Given the description of an element on the screen output the (x, y) to click on. 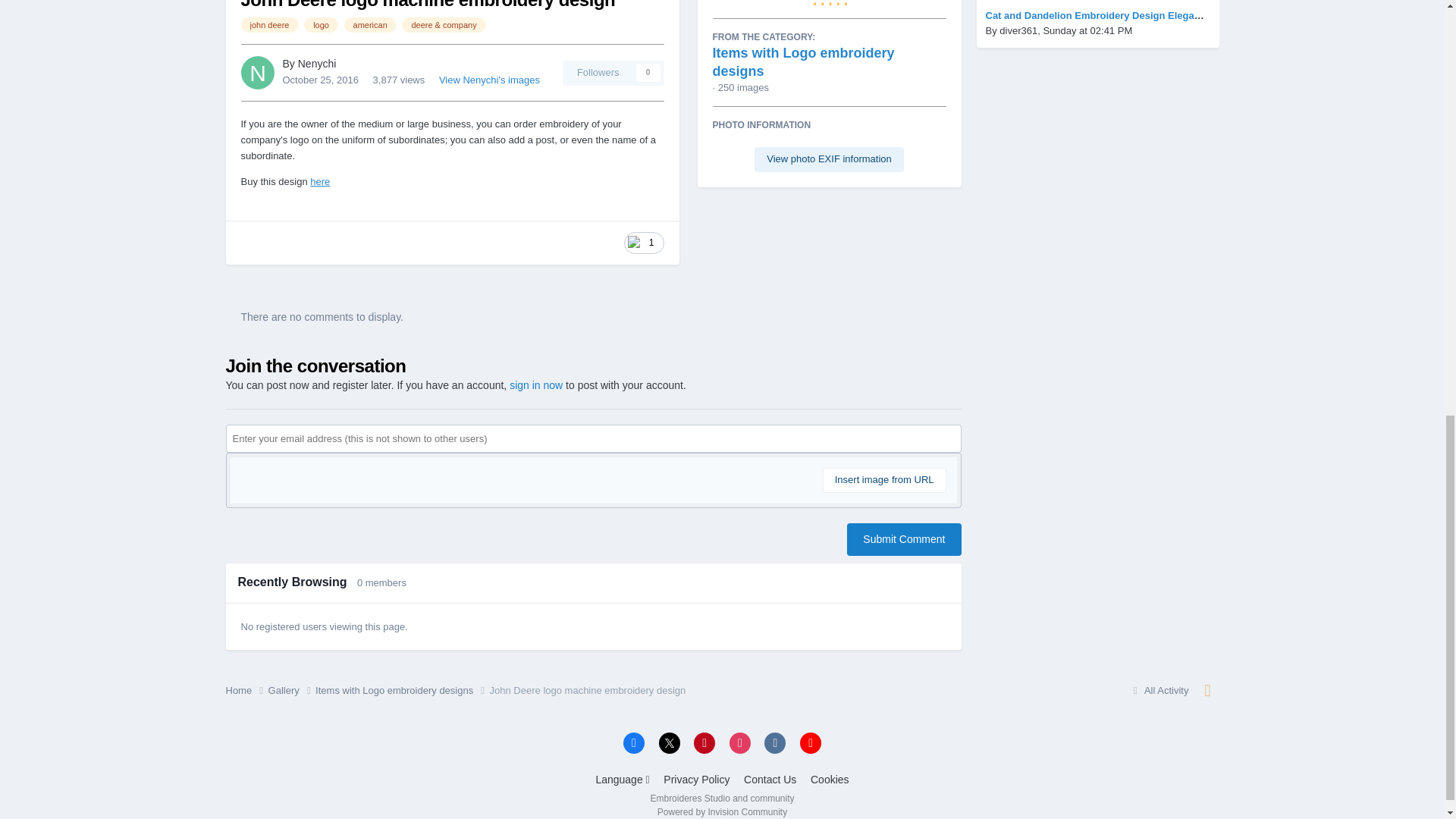
Find other content tagged with 'john deere' (269, 24)
Find other content tagged with 'american' (369, 24)
Find other content tagged with 'logo' (320, 24)
Go to Nenychi's profile (258, 72)
